Given the description of an element on the screen output the (x, y) to click on. 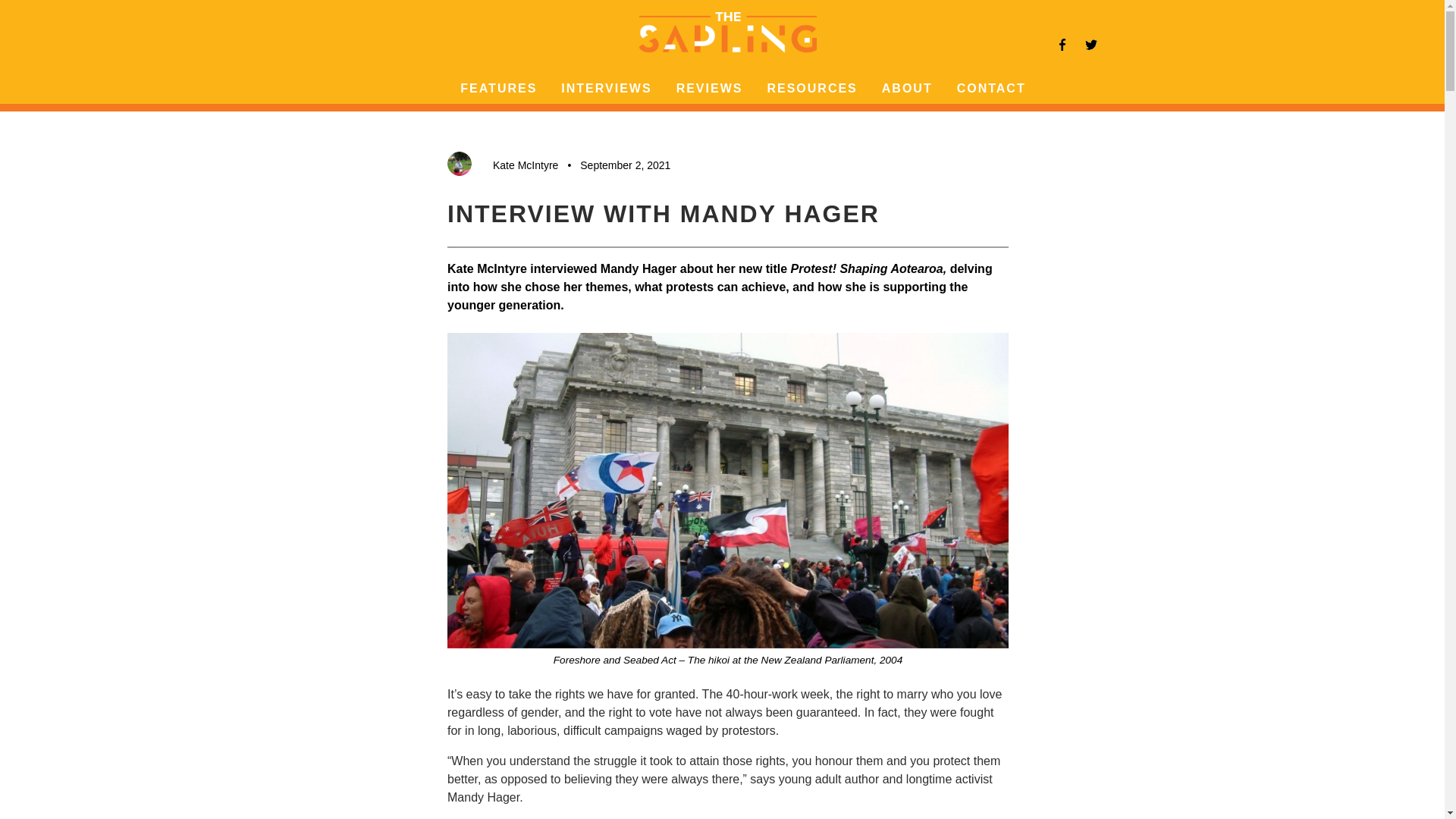
CONTACT (991, 88)
ABOUT (907, 88)
FEATURES (498, 88)
RESOURCES (812, 88)
REVIEWS (709, 88)
INTERVIEWS (605, 88)
